Given the description of an element on the screen output the (x, y) to click on. 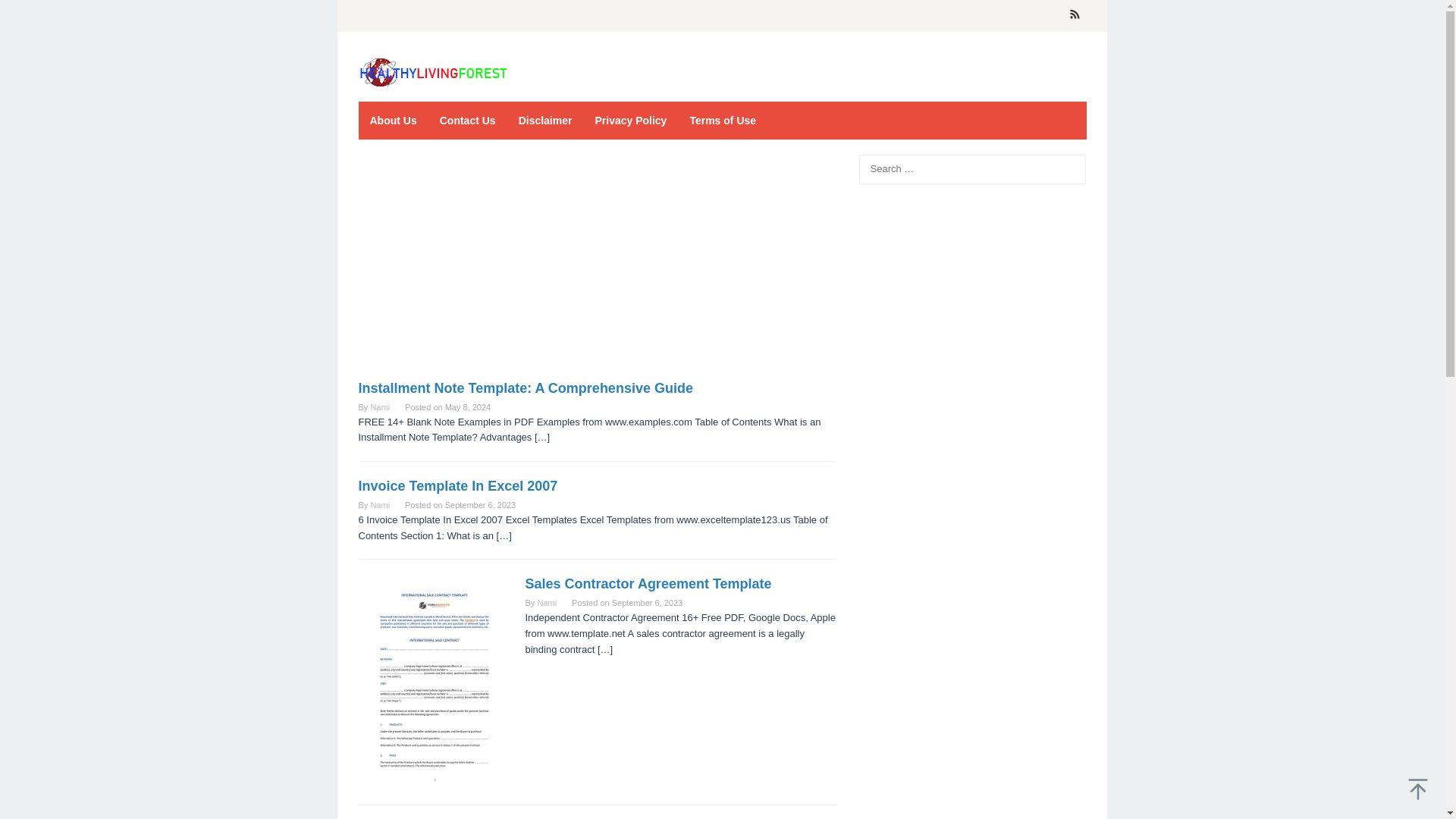
Permalink to: Sales Contractor Agreement Template (647, 583)
Permalink to: Invoice Template In Excel 2007 (457, 485)
Permalink to: Nami (379, 504)
Nami (546, 602)
Permalink to: Nami (379, 406)
Nami (379, 504)
Search (26, 14)
Permalink to: Nami (546, 602)
Terms of Use (722, 120)
Nami (379, 406)
Sales Contractor Agreement Template (647, 583)
Installment Note Template: A Comprehensive Guide (525, 387)
Privacy Policy (630, 120)
Advertisement (596, 266)
Professional Template Ideas (433, 72)
